Given the description of an element on the screen output the (x, y) to click on. 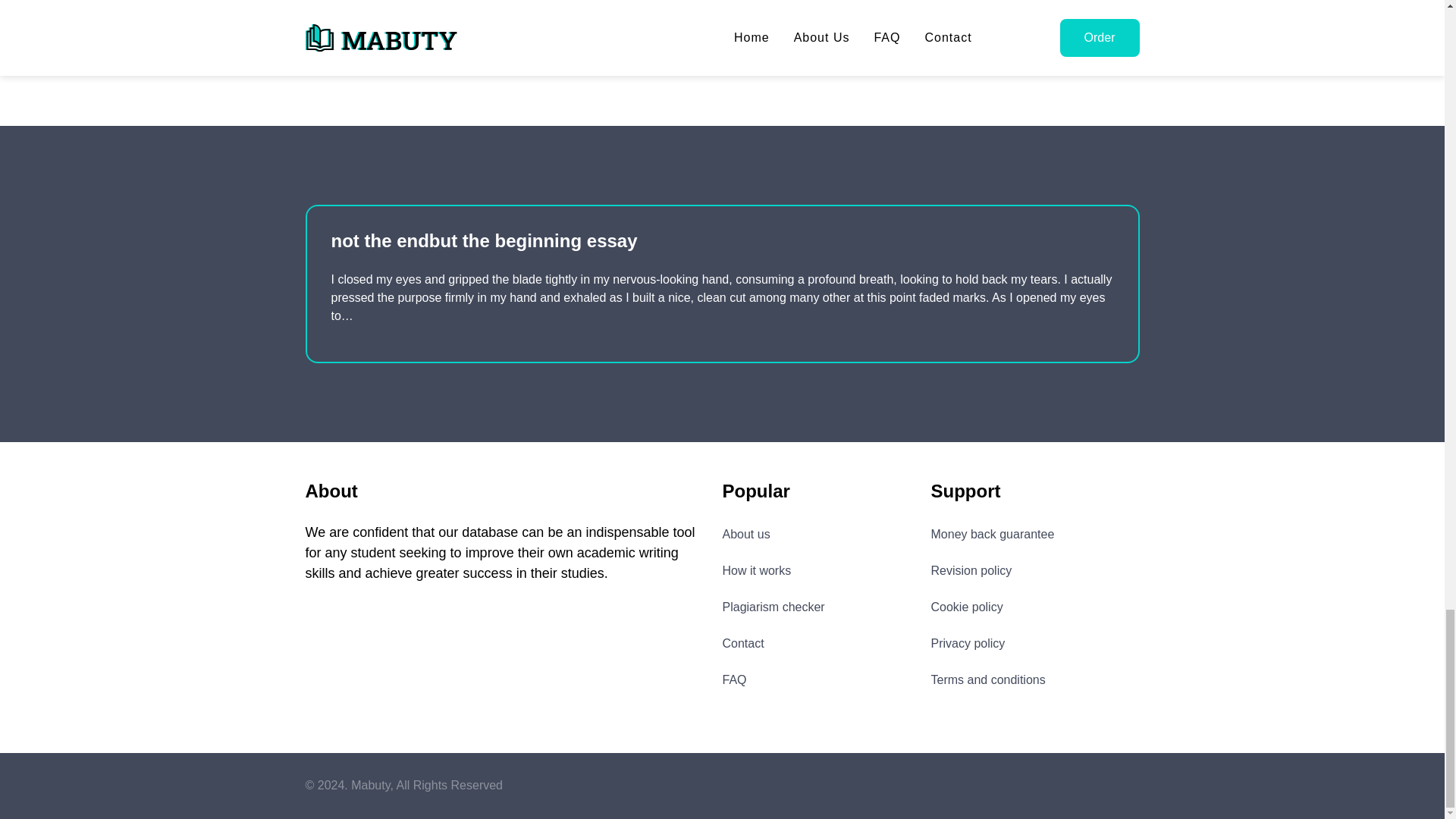
Contact (742, 642)
FAQ (733, 679)
Cookie policy (967, 606)
About us (746, 533)
Terms and conditions (988, 679)
Revision policy (971, 569)
Plagiarism checker (773, 606)
Privacy policy (968, 642)
essay (417, 35)
engineering (344, 35)
Money back guarantee (992, 533)
How it works (756, 569)
DMCA (1093, 785)
